Given the description of an element on the screen output the (x, y) to click on. 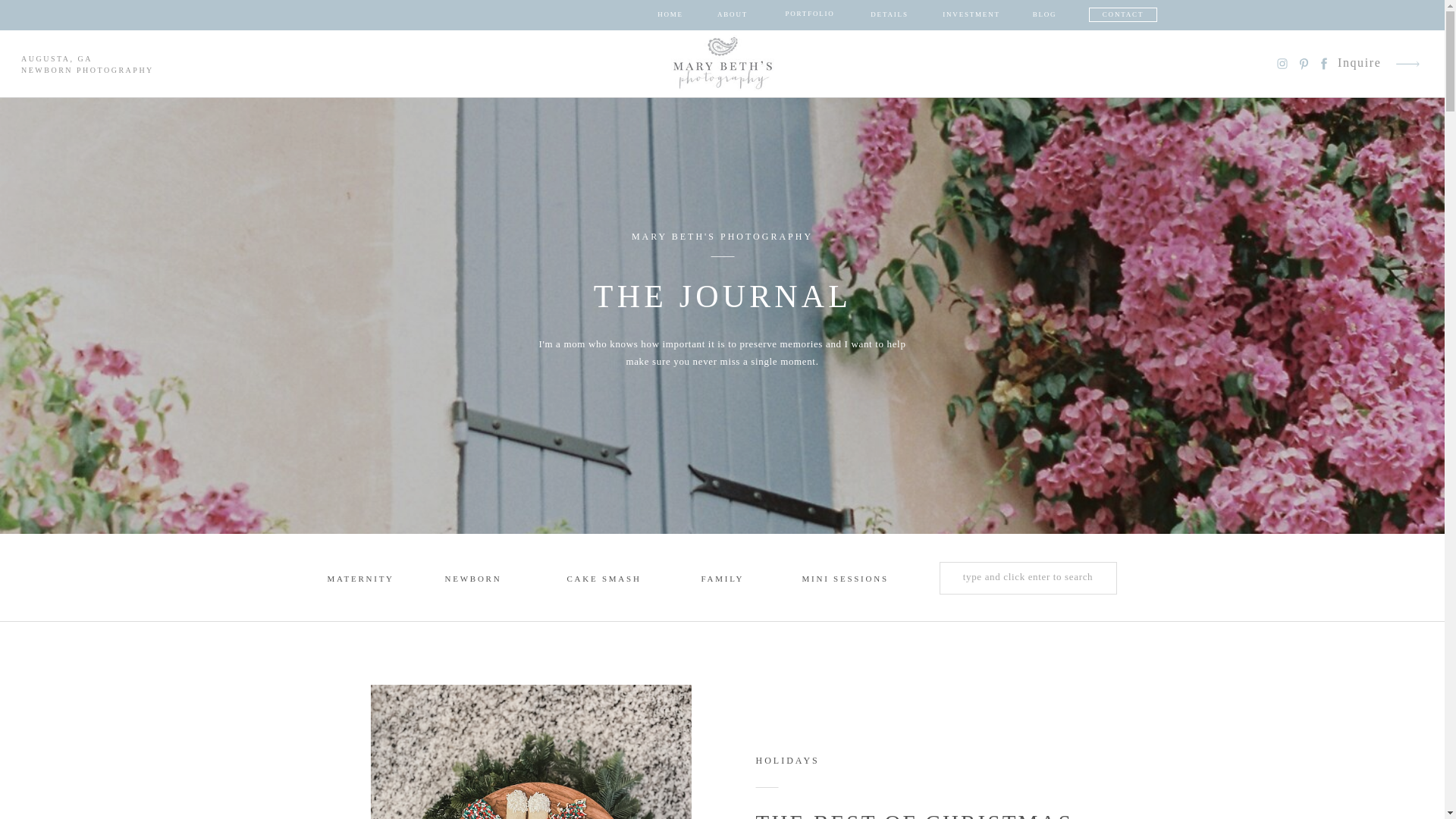
BLOG (1044, 15)
NEWBORN (474, 580)
ABOUT (732, 15)
DETAILS (889, 15)
HOME (670, 15)
Inquire  (1360, 64)
INVESTMENT (970, 15)
FAMILY (729, 580)
CAKE SMASH (609, 580)
CONTACT (1122, 15)
